Given the description of an element on the screen output the (x, y) to click on. 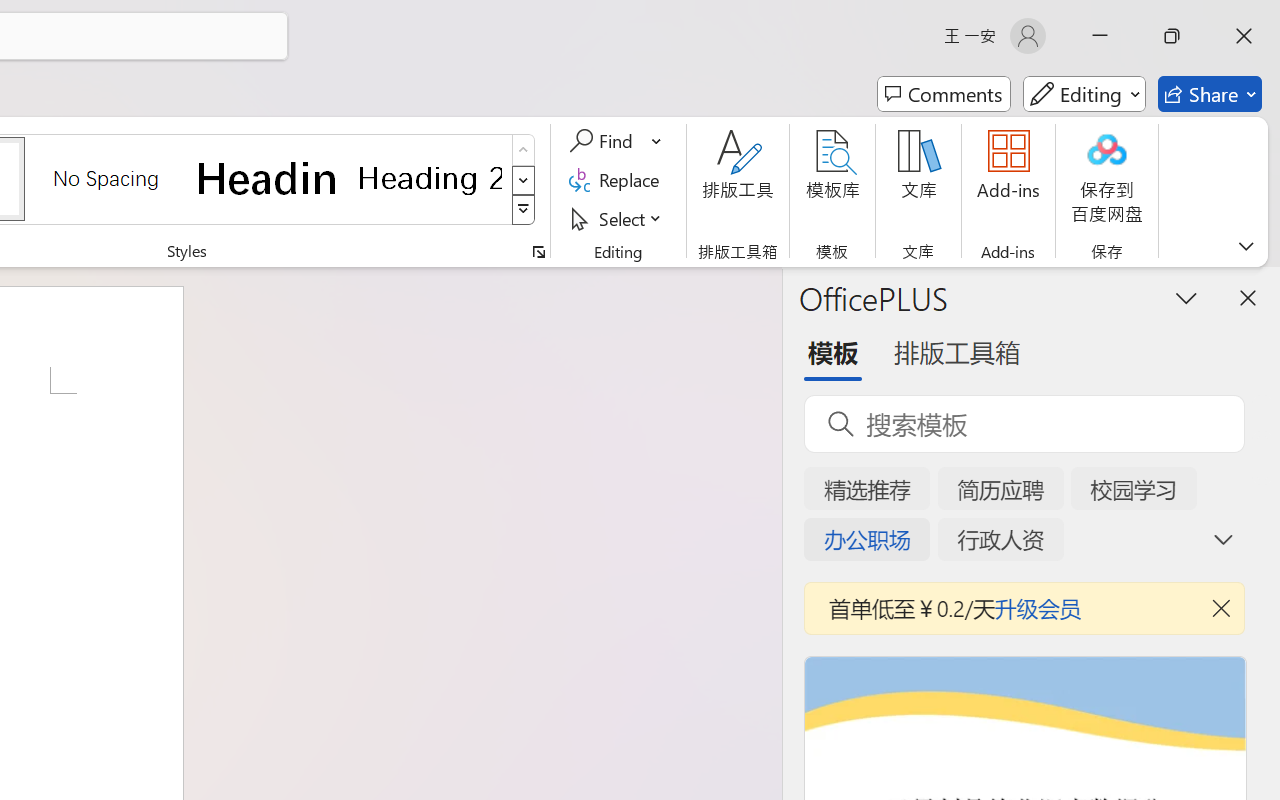
Comments (943, 94)
Find (604, 141)
Row up (523, 150)
Heading 1 (267, 178)
Task Pane Options (1186, 297)
Select (618, 218)
Class: NetUIImage (523, 210)
Styles (523, 209)
More Options (657, 141)
